Given the description of an element on the screen output the (x, y) to click on. 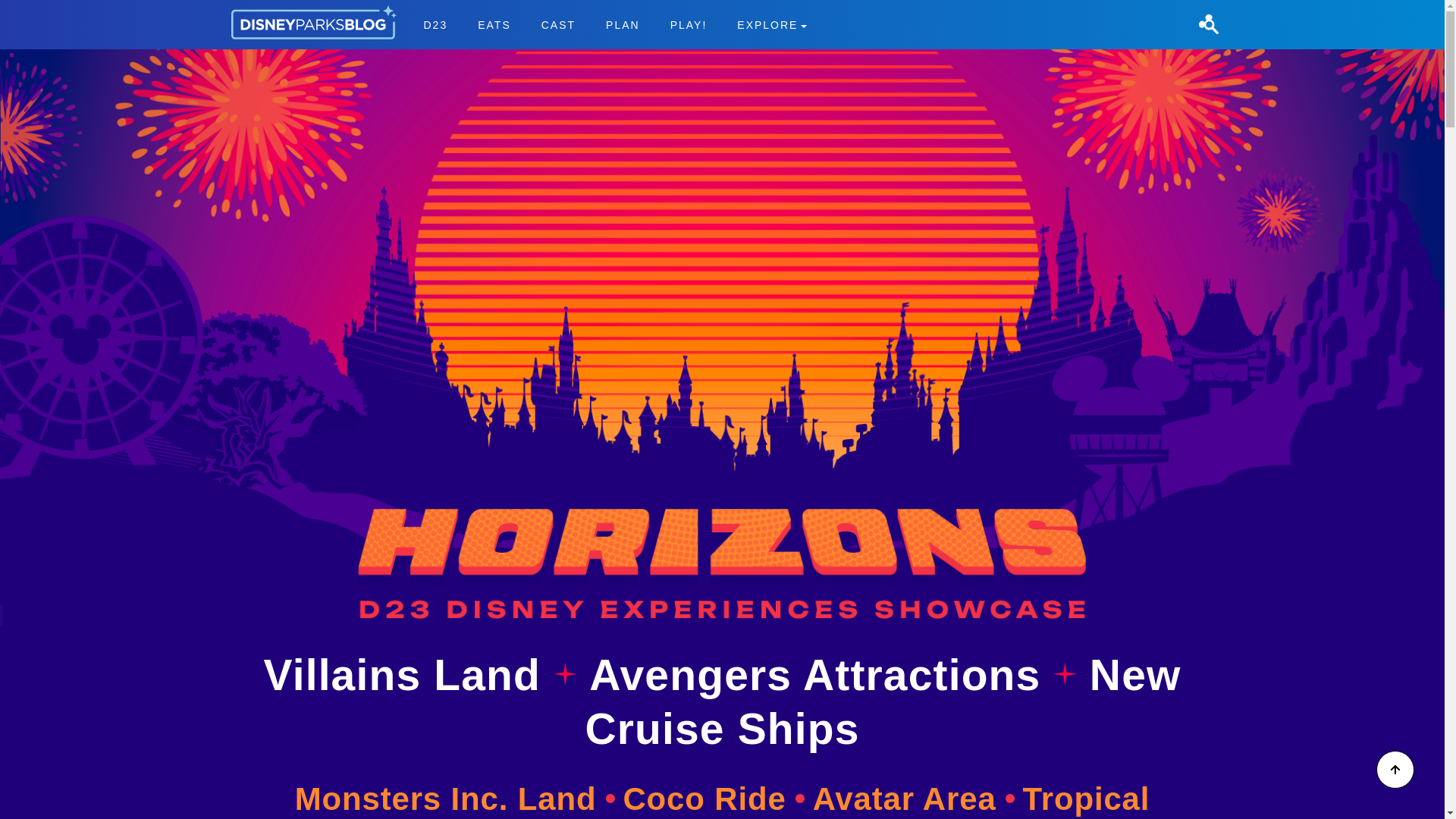
Villains Land (408, 674)
Coco Ride (714, 798)
EATS (614, 23)
New Cruise Ships (494, 23)
Skip to content (882, 701)
Monsters Inc. Land (40, 8)
Avatar Area (454, 798)
CAST (913, 798)
Tropical Americas (558, 23)
